Given the description of an element on the screen output the (x, y) to click on. 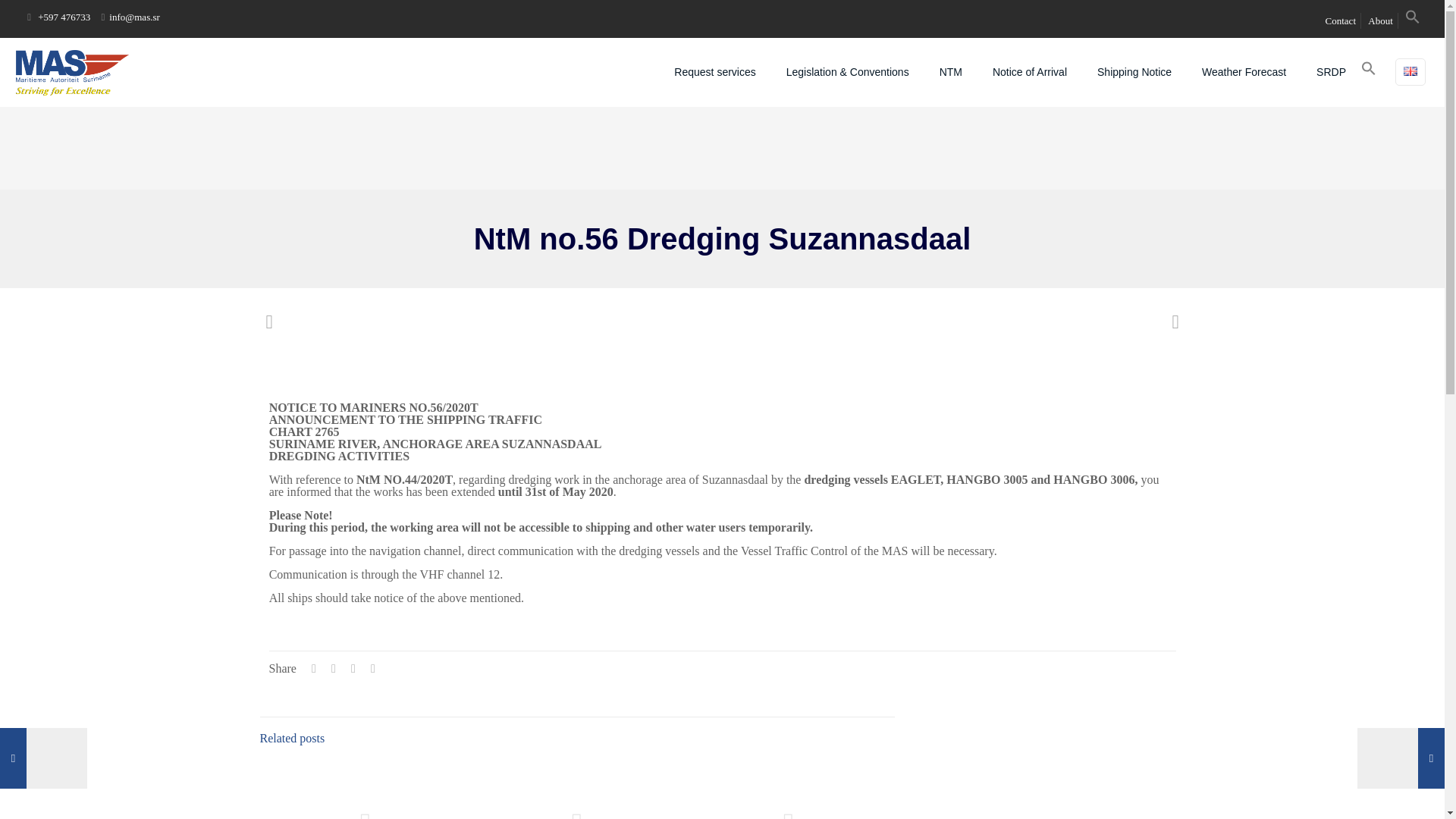
Shipping Notice (1133, 71)
Contact (1339, 20)
Weather Forecast (1243, 71)
Request services (714, 71)
MAS (71, 71)
About (1380, 20)
Notice of Arrival (1028, 71)
